Given the description of an element on the screen output the (x, y) to click on. 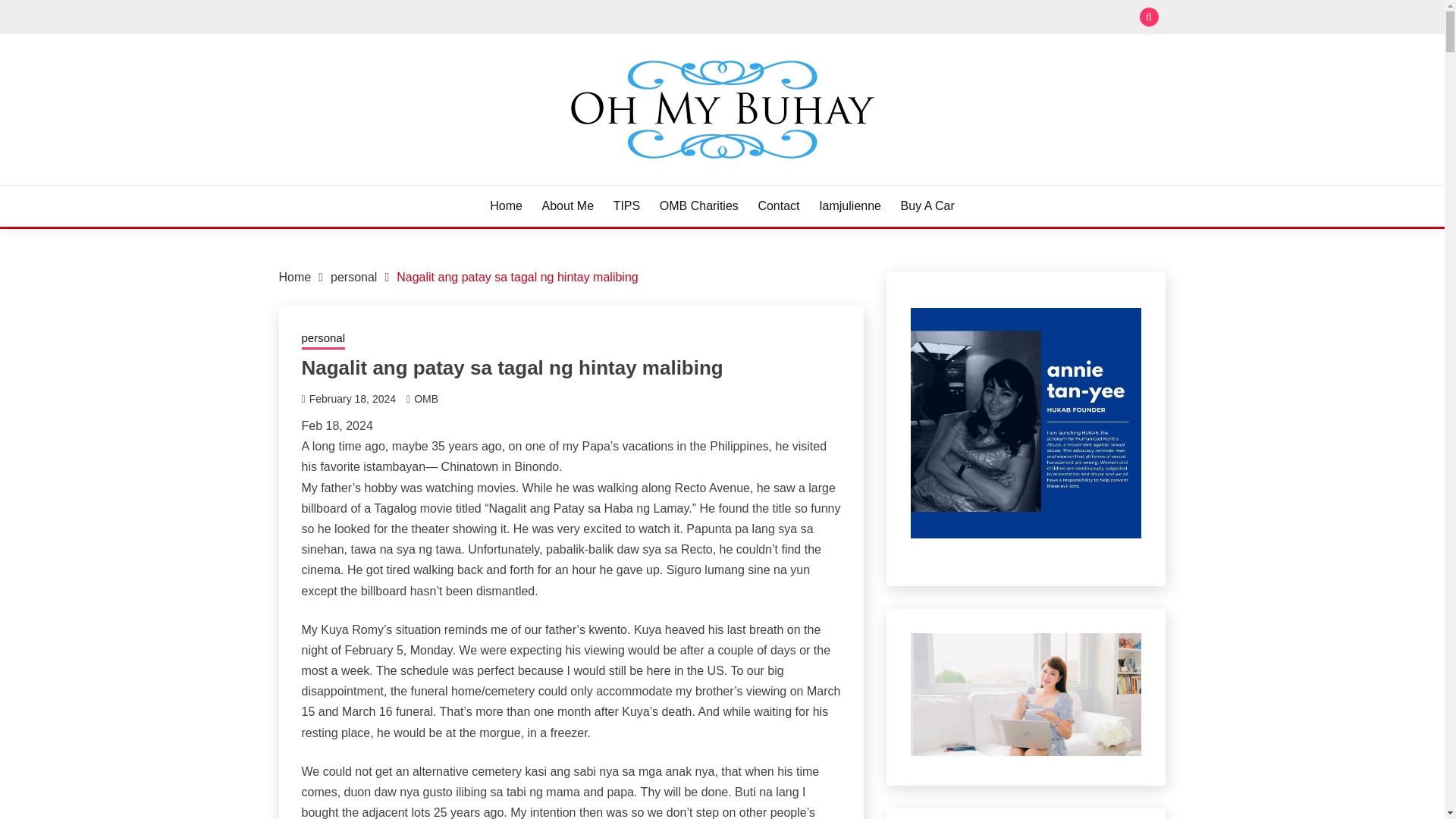
OH MY BUHAY (376, 183)
OMB Charities (698, 206)
personal (353, 277)
personal (323, 339)
Iamjulienne (849, 206)
Contact (778, 206)
About Me (567, 206)
OMB (425, 398)
February 18, 2024 (352, 398)
Search (832, 18)
Home (295, 277)
Home (505, 206)
TIPS (626, 206)
Buy A Car (928, 206)
Nagalit ang patay sa tagal ng hintay malibing (516, 277)
